Given the description of an element on the screen output the (x, y) to click on. 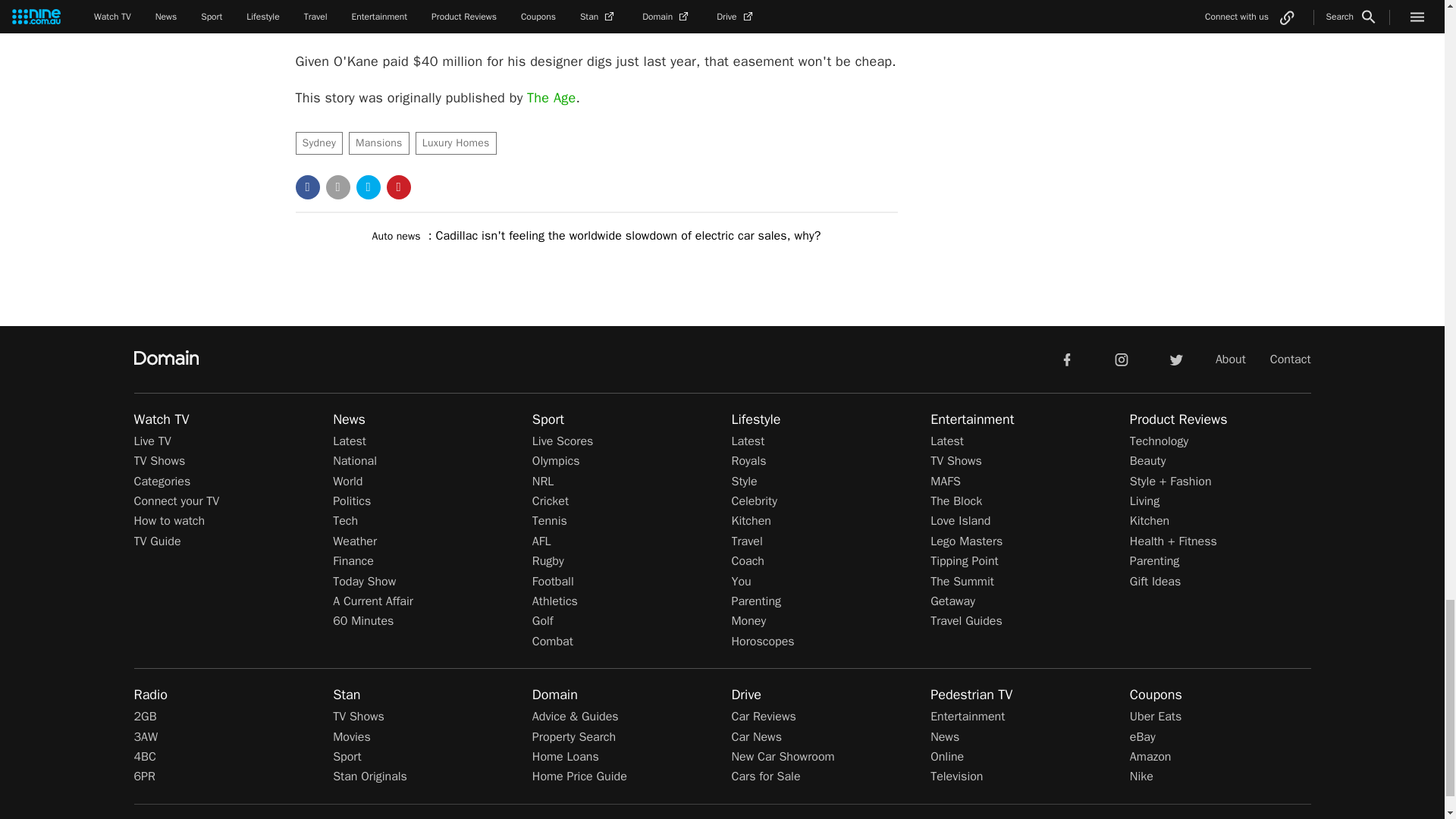
Sydney (319, 142)
The Age (551, 97)
Mansions (379, 142)
The Age (551, 97)
instagram (1121, 358)
facebook (1066, 358)
About (1230, 359)
twitter (1175, 358)
Luxury Homes (455, 142)
